Given the description of an element on the screen output the (x, y) to click on. 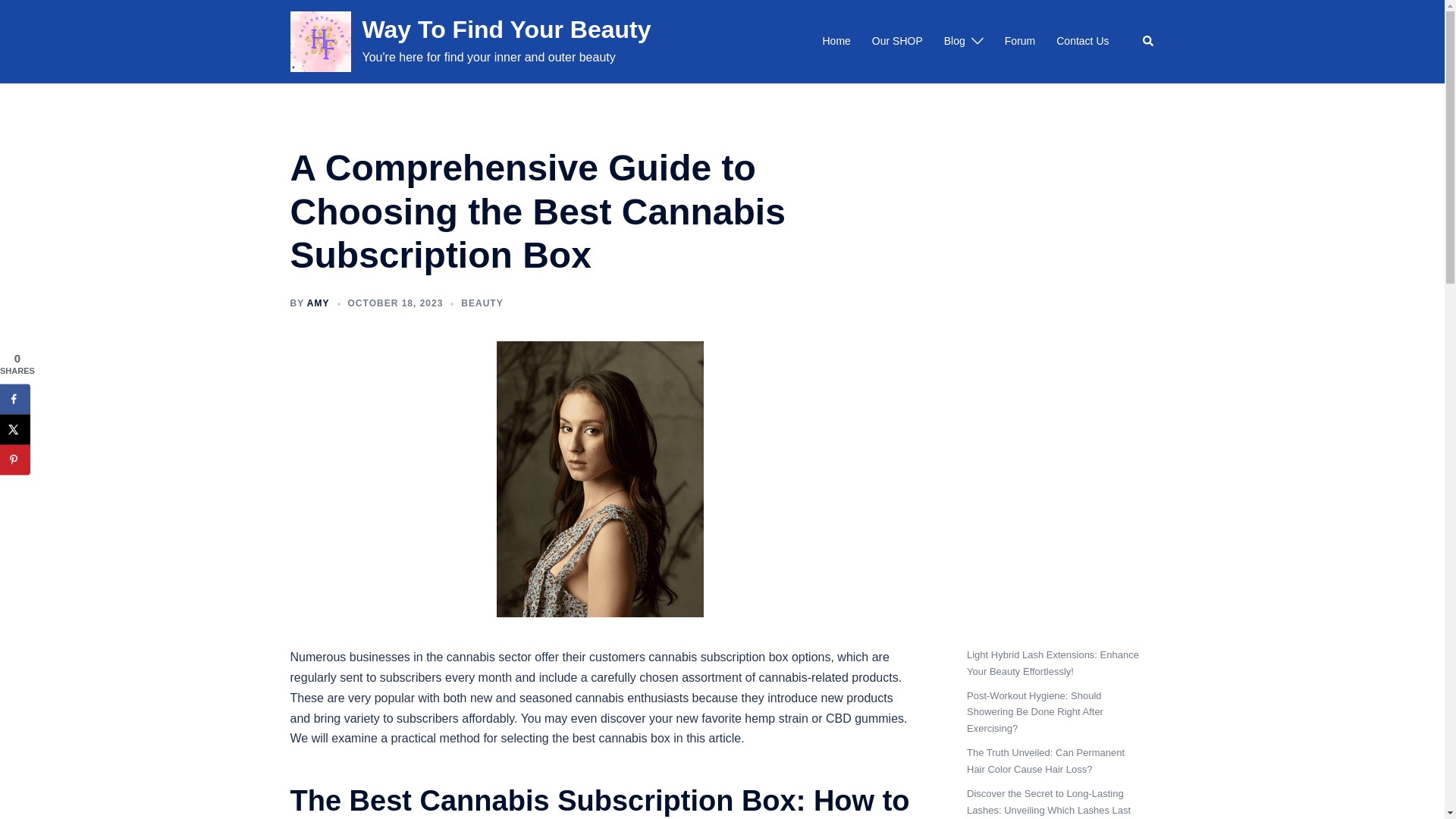
Share on Facebook (15, 399)
Way To Find Your Beauty (319, 41)
Share on X (15, 429)
Forum (1019, 41)
Our SHOP (897, 41)
Blog (954, 41)
Way To Find Your Beauty (506, 29)
Home (836, 41)
Search (1147, 41)
Contact Us (1082, 41)
